Given the description of an element on the screen output the (x, y) to click on. 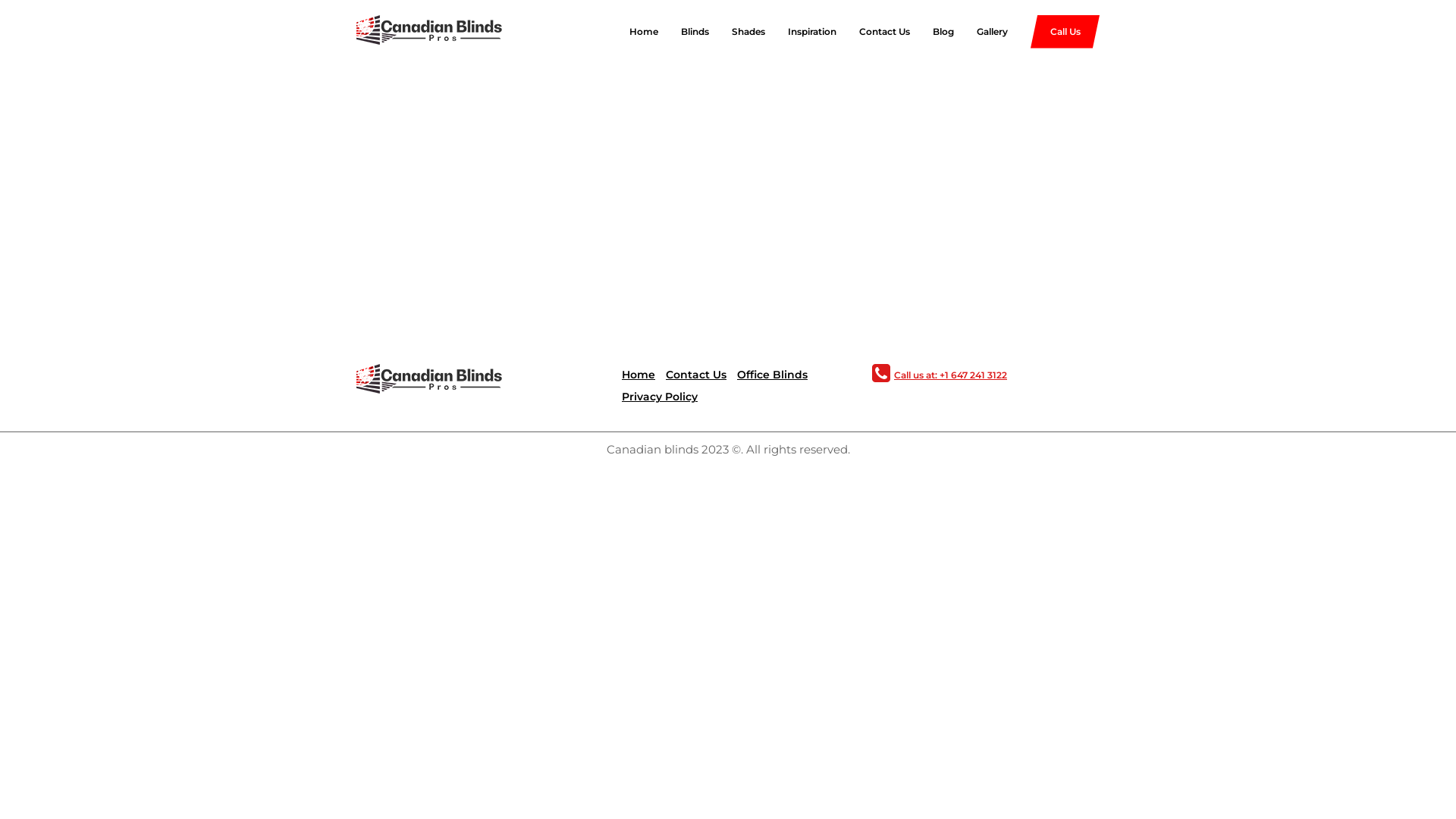
Inspiration Element type: text (800, 31)
Office Blinds Element type: text (772, 374)
Call Us Element type: text (1064, 31)
Blinds Element type: text (683, 31)
Contact Us Element type: text (873, 31)
Blog Element type: text (931, 31)
Privacy Policy Element type: text (659, 396)
Contact Us Element type: text (695, 374)
Call us at: +1 647 241 3122 Element type: text (948, 374)
Home Element type: text (632, 31)
Home Element type: text (638, 374)
Shades Element type: text (737, 31)
Gallery Element type: text (980, 31)
